Given the description of an element on the screen output the (x, y) to click on. 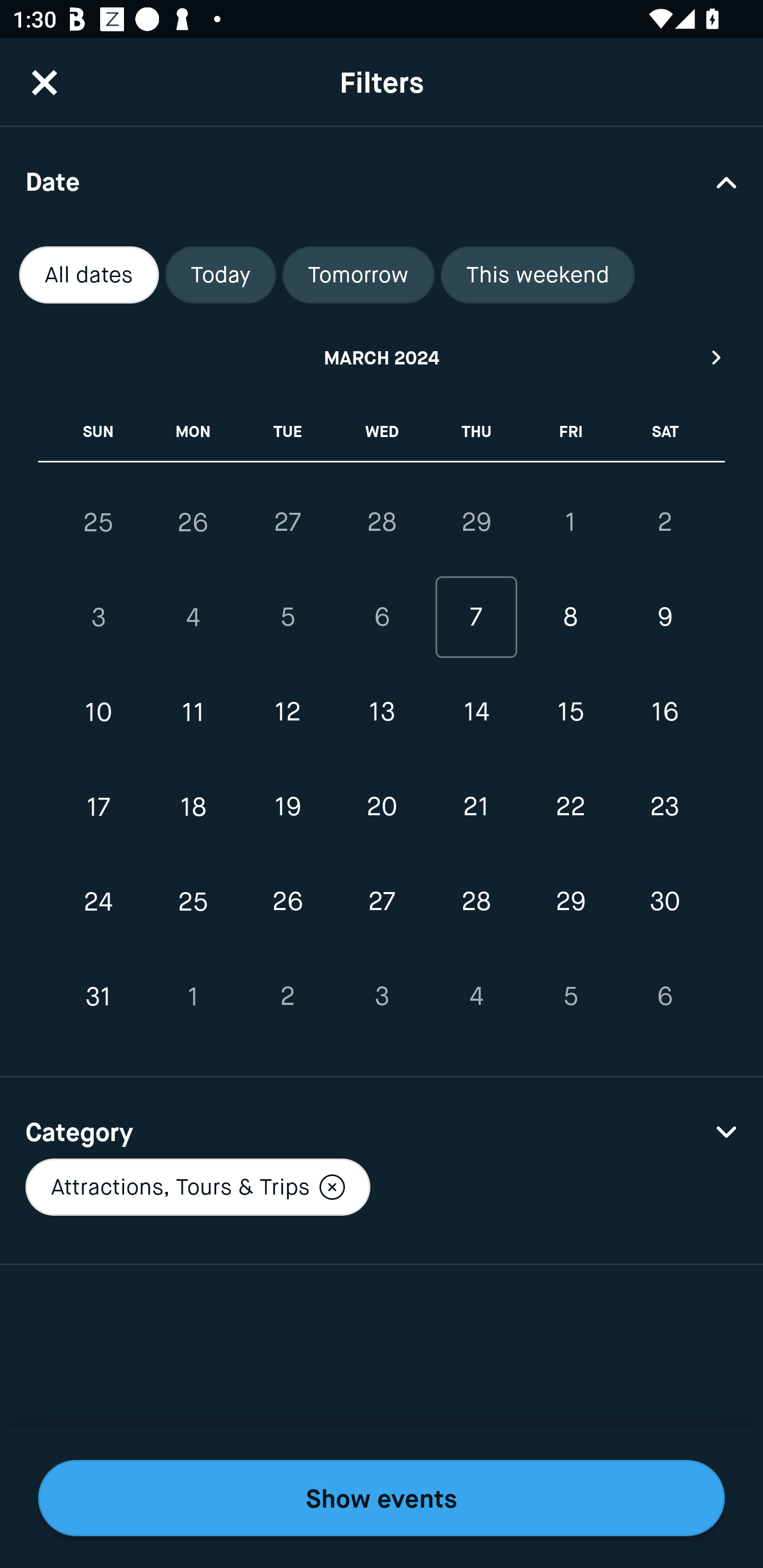
CloseButton (44, 82)
Date Drop Down Arrow (381, 181)
All dates (88, 274)
Today (220, 274)
Tomorrow (358, 274)
This weekend (537, 274)
Next (717, 357)
25 (98, 522)
26 (192, 522)
27 (287, 522)
28 (381, 522)
29 (475, 522)
1 (570, 522)
2 (664, 522)
3 (98, 617)
4 (192, 617)
5 (287, 617)
6 (381, 617)
7 (475, 617)
8 (570, 617)
9 (664, 617)
10 (98, 711)
11 (192, 711)
12 (287, 711)
13 (381, 711)
14 (475, 711)
15 (570, 711)
16 (664, 711)
17 (98, 806)
18 (192, 806)
19 (287, 806)
20 (381, 806)
21 (475, 806)
22 (570, 806)
23 (664, 806)
24 (98, 901)
25 (192, 901)
26 (287, 901)
27 (381, 901)
28 (475, 901)
29 (570, 901)
30 (664, 901)
31 (98, 996)
1 (192, 996)
2 (287, 996)
3 (381, 996)
4 (475, 996)
5 (570, 996)
6 (664, 996)
Attractions, Tours & Trips Localized description (197, 1186)
Show events (381, 1497)
